Given the description of an element on the screen output the (x, y) to click on. 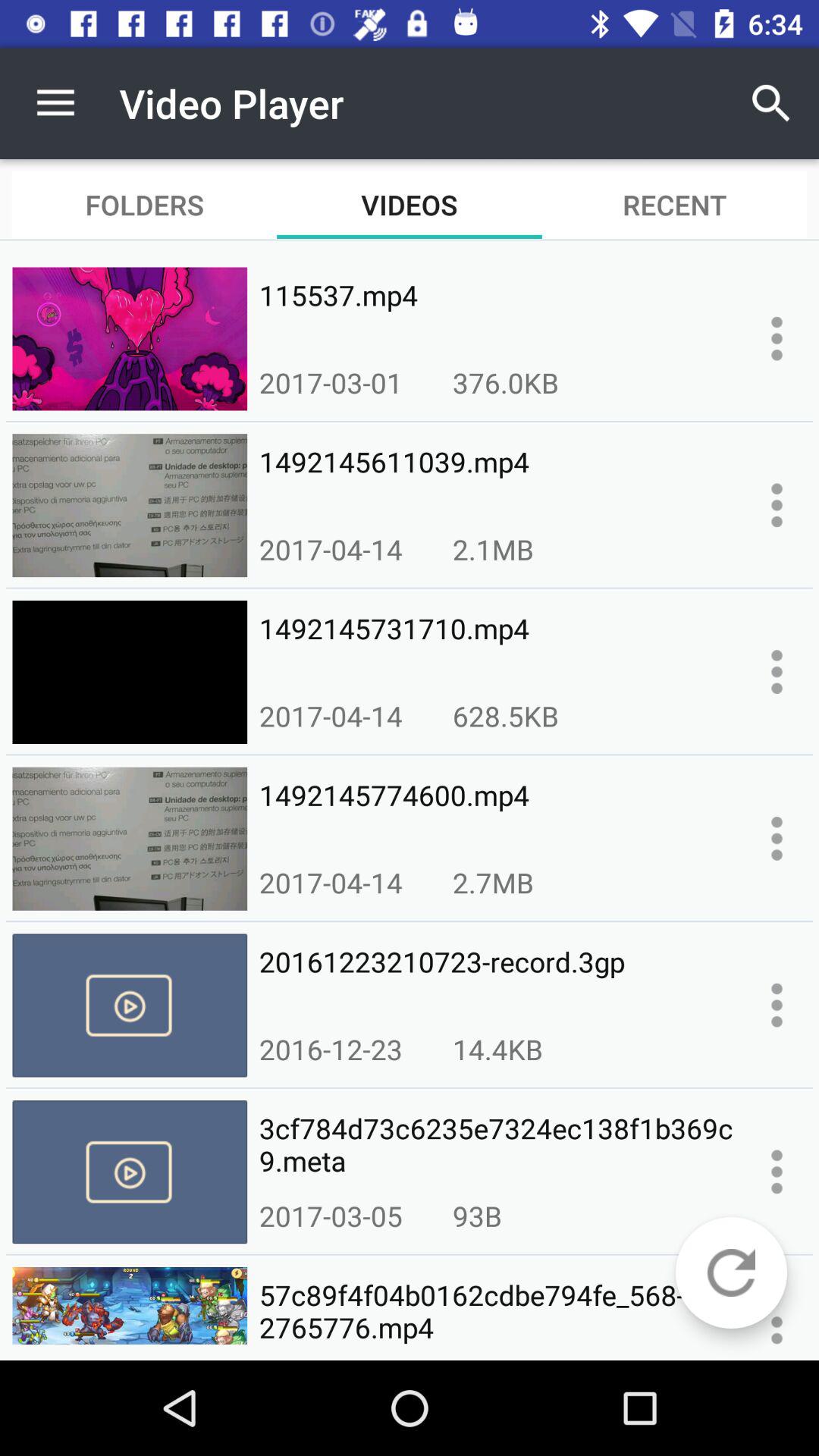
more info (776, 671)
